Given the description of an element on the screen output the (x, y) to click on. 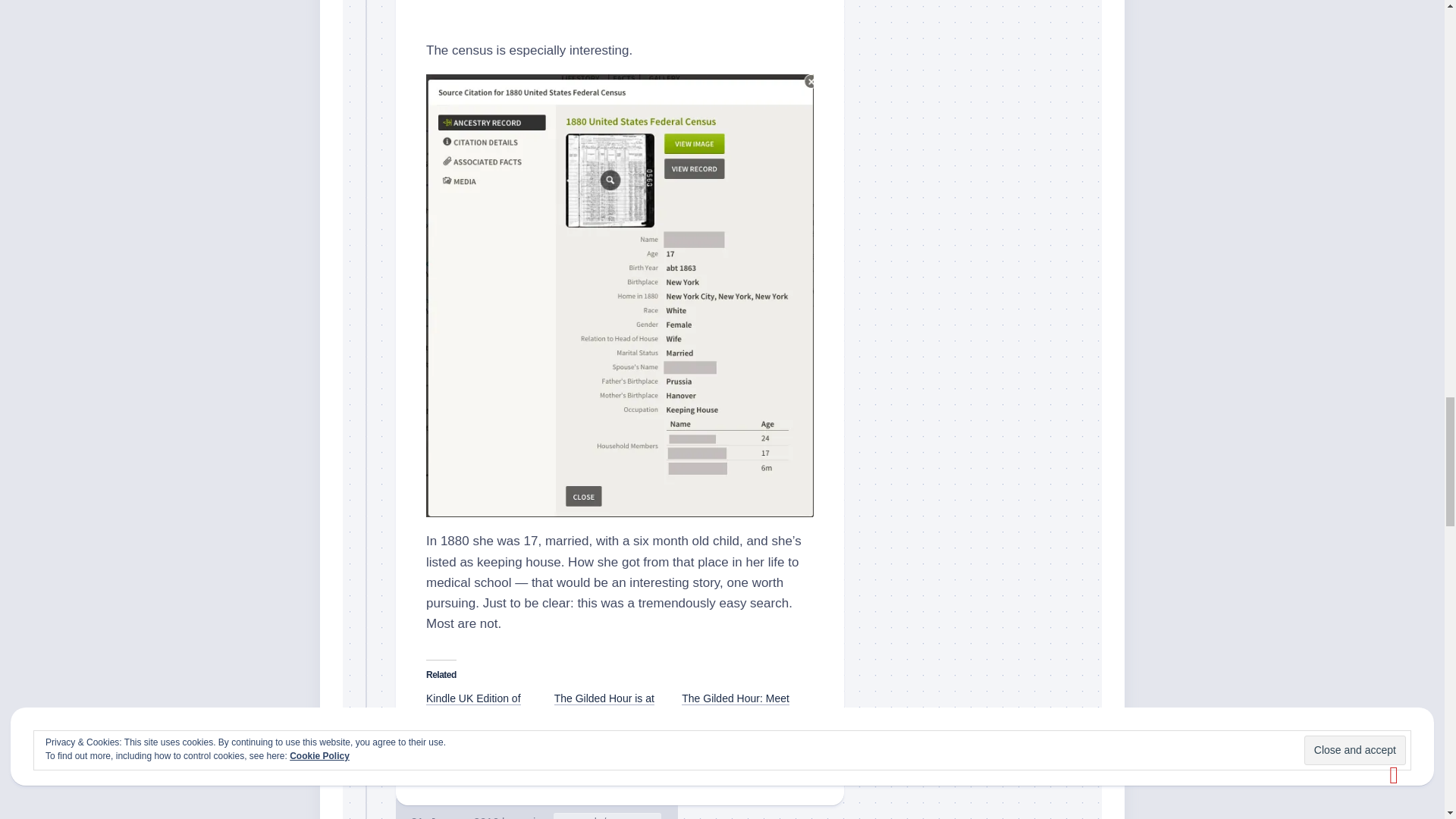
The Gilded Hour: Meet Jack Mezzanotte (735, 705)
Kindle UK Edition of The Gilded Hour (473, 705)
The Gilded Hour is at the starting gate (603, 705)
Kindle UK Edition of The Gilded Hour (473, 705)
The Gilded Hour is at the starting gate (603, 705)
Posts by rosina (532, 816)
The Gilded Hour: Meet Jack Mezzanotte (735, 705)
rosina (532, 816)
